Given the description of an element on the screen output the (x, y) to click on. 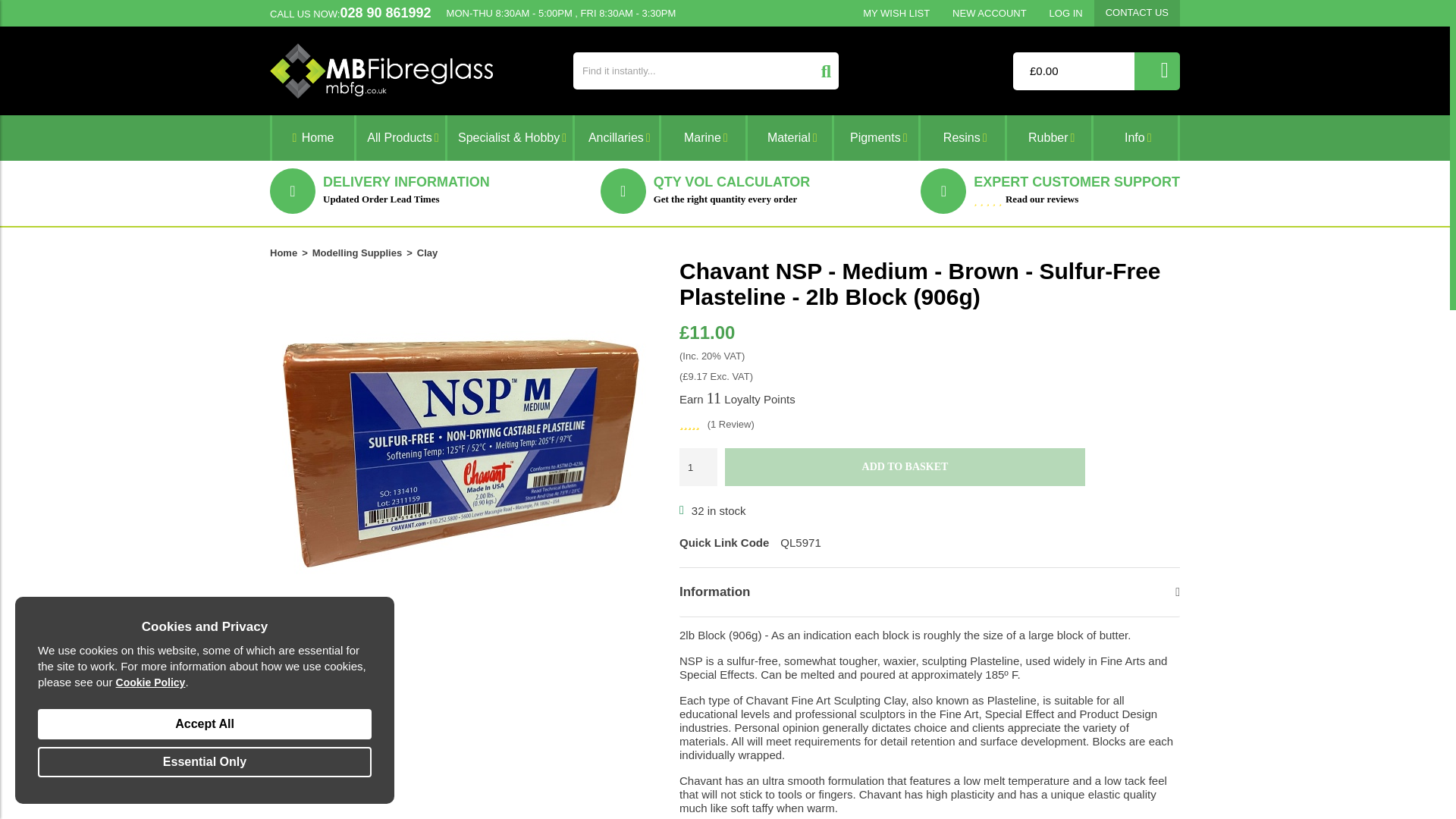
MY WISH LIST (895, 13)
All Products (400, 137)
NEW ACCOUNT (989, 13)
1 (698, 466)
LOG IN (1066, 13)
Home (312, 137)
CONTACT US (1136, 12)
